Given the description of an element on the screen output the (x, y) to click on. 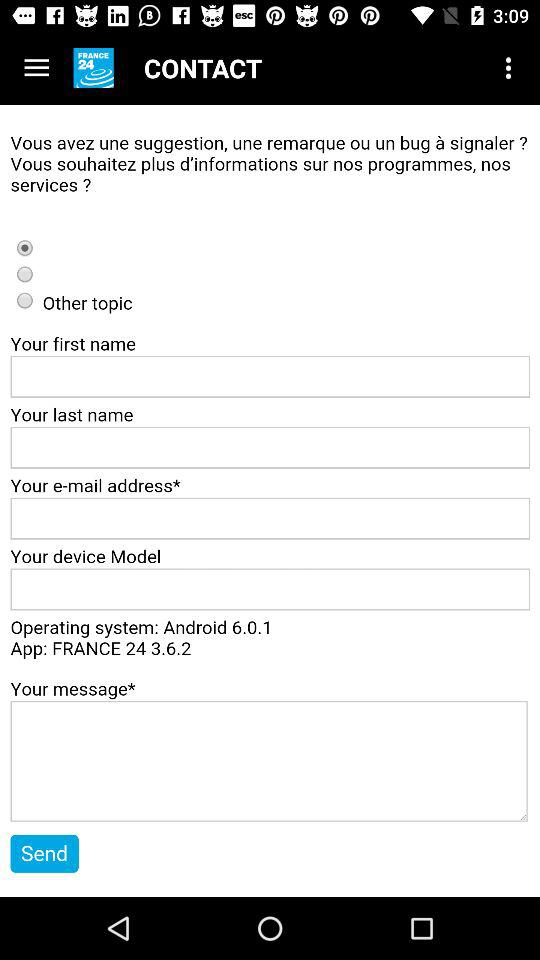
click entire workspace (270, 501)
